Given the description of an element on the screen output the (x, y) to click on. 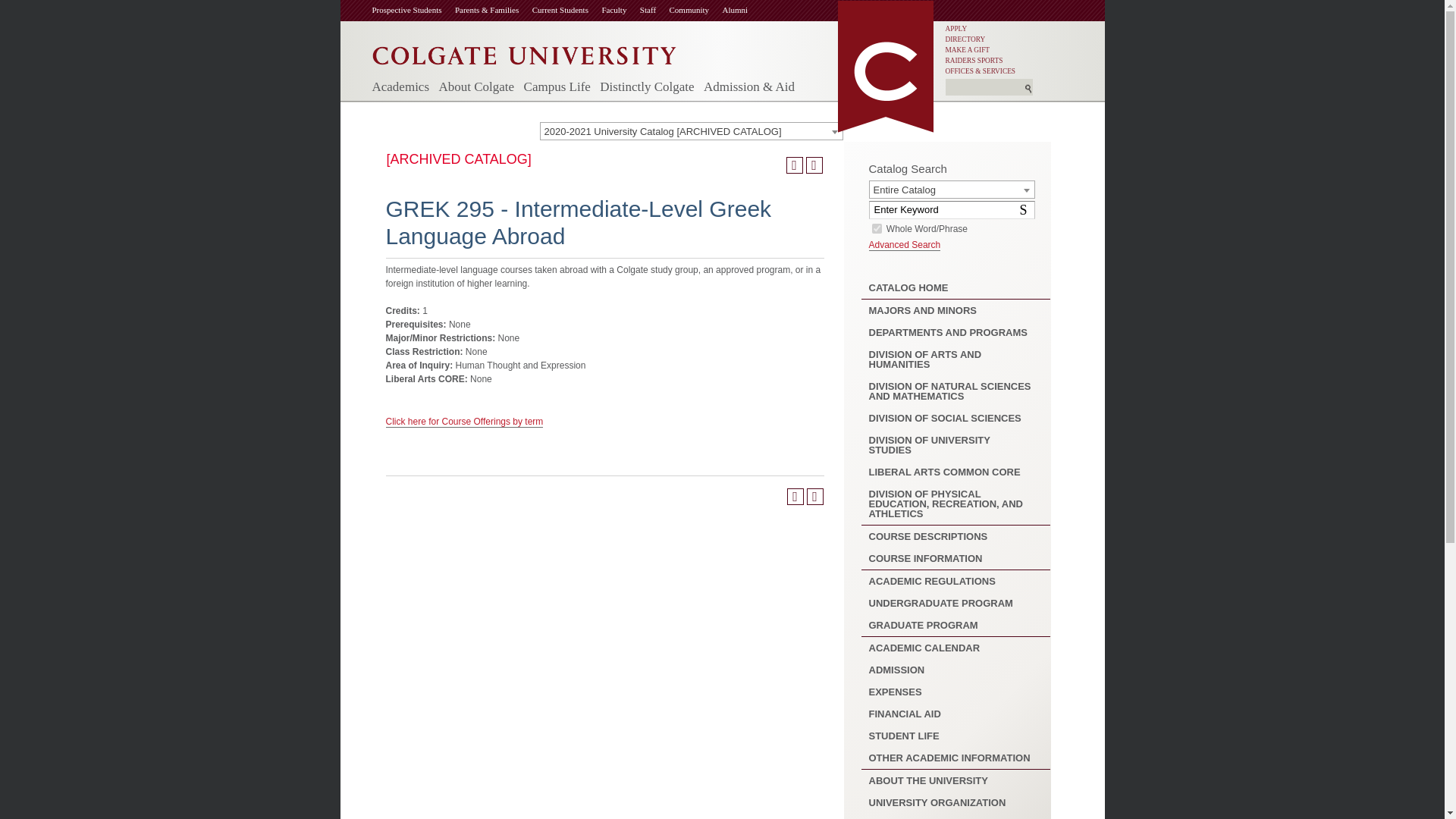
Entire Catalog (951, 189)
Search (1025, 209)
1 (877, 228)
Exact Match (877, 228)
Current Students (567, 9)
Alumni (741, 9)
Community (695, 9)
Type search term here (983, 87)
About Colgate (475, 86)
Academics (400, 86)
Prospective Students (412, 9)
Search Keyword Field, required (952, 208)
Faculty (620, 9)
Staff (654, 9)
